Given the description of an element on the screen output the (x, y) to click on. 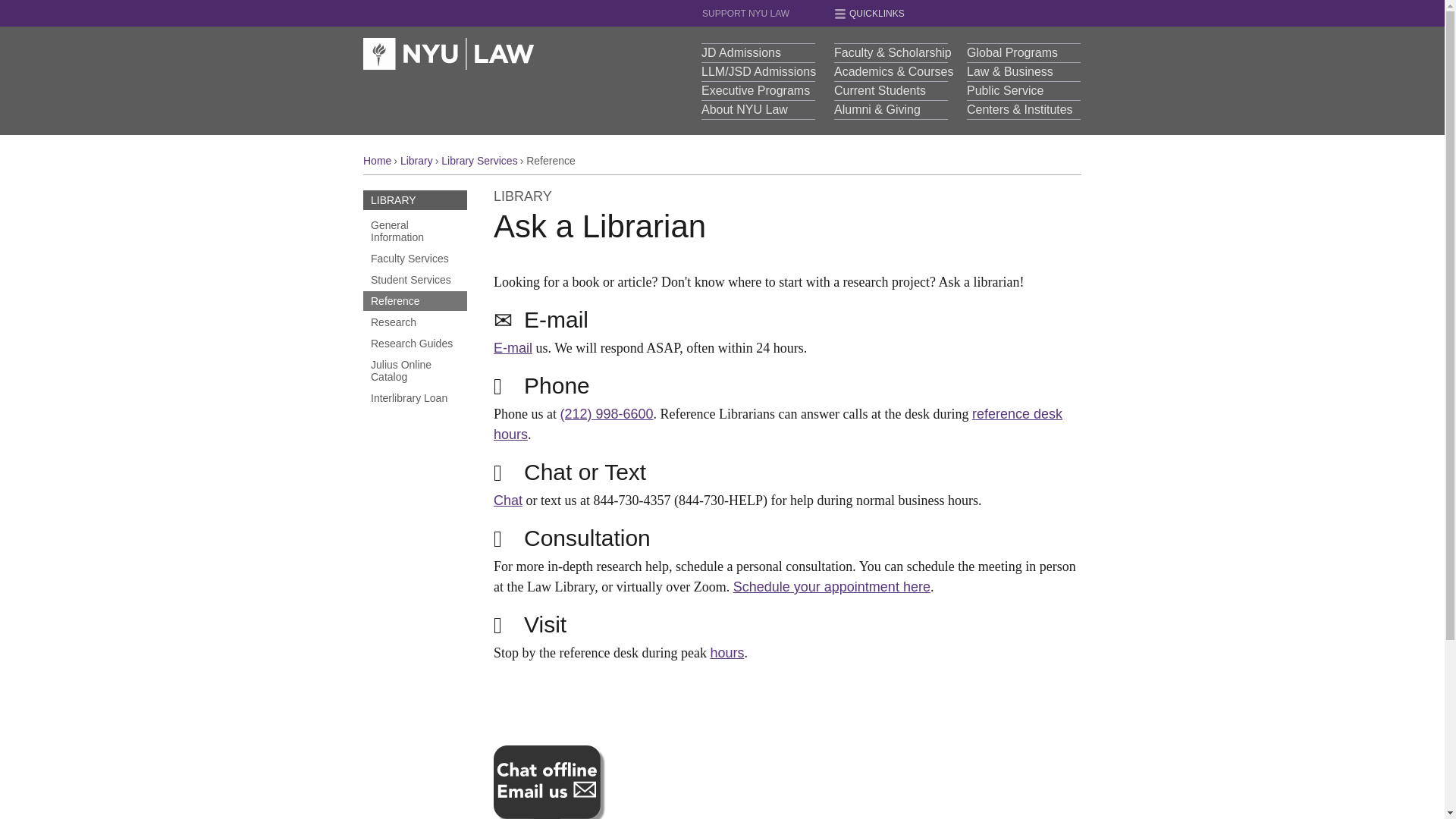
Public Service (1023, 90)
JD Admissions (758, 52)
Executive Programs (758, 90)
Current Students (890, 90)
About NYU Law (758, 109)
SUPPORT NYU LAW (767, 16)
Home (448, 53)
Global Programs (1023, 52)
